Given the description of an element on the screen output the (x, y) to click on. 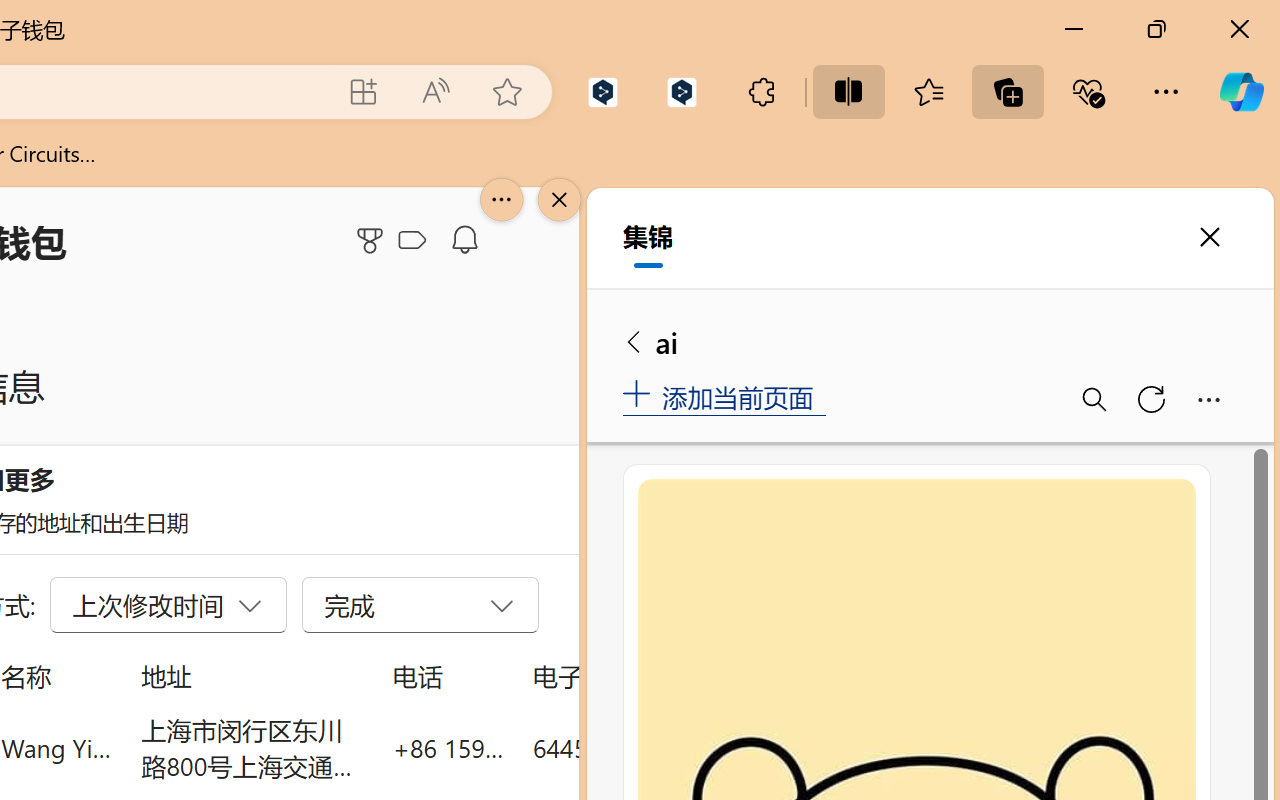
+86 159 0032 4640 (447, 747)
